Given the description of an element on the screen output the (x, y) to click on. 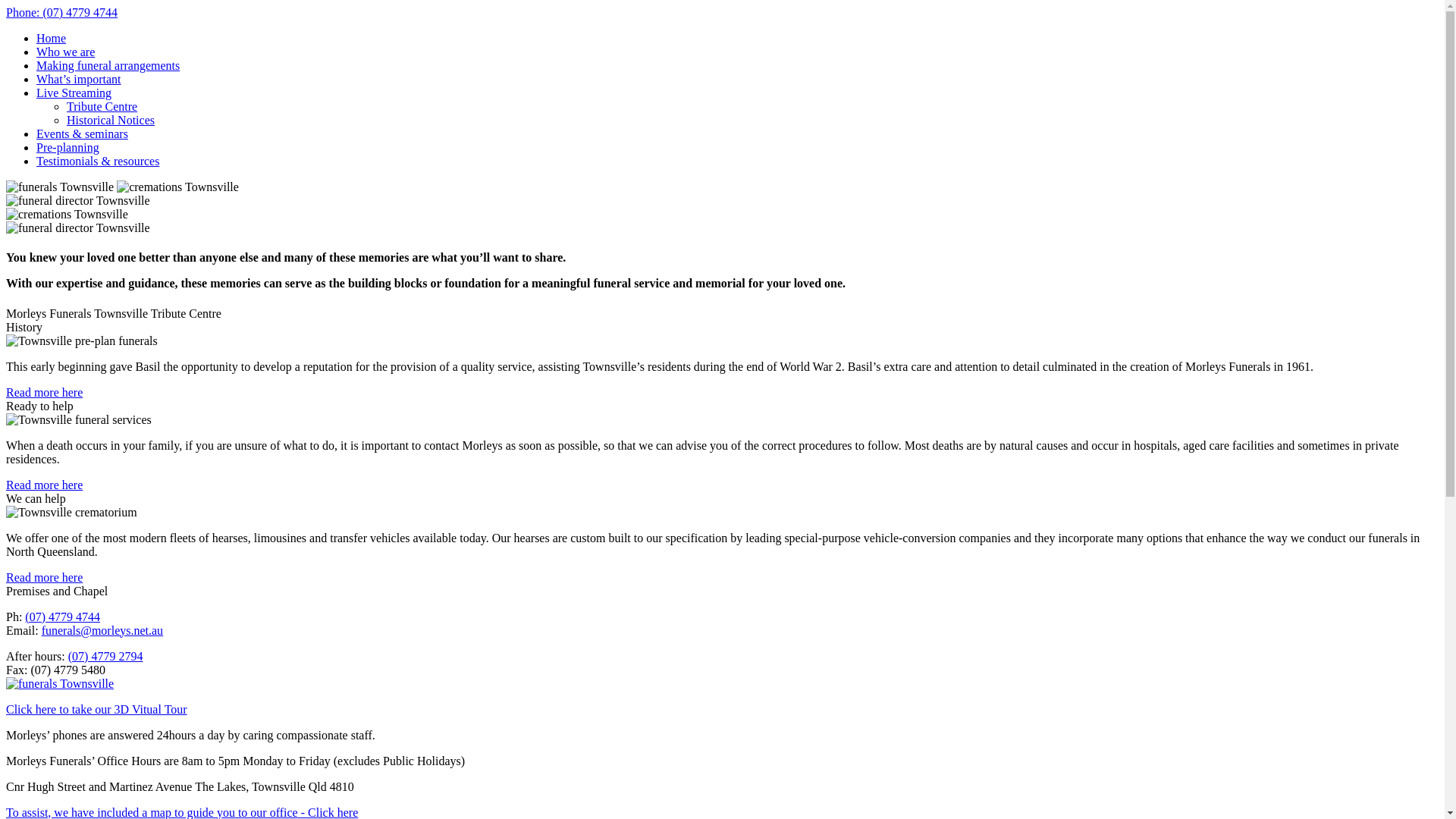
Historical Notices Element type: text (110, 119)
Making funeral arrangements Element type: text (107, 65)
Live Streaming Element type: text (73, 92)
Read more here Element type: text (44, 484)
Phone: (07) 4779 4744 Element type: text (61, 12)
funerals@morleys.net.au Element type: text (102, 630)
Who we are Element type: text (65, 51)
Home Element type: text (50, 37)
(07) 4779 2794 Element type: text (105, 655)
Read more here Element type: text (44, 577)
Pre-planning Element type: text (67, 147)
Read more here Element type: text (44, 391)
Tribute Centre Element type: text (101, 106)
Testimonials & resources Element type: text (97, 160)
(07) 4779 4744 Element type: text (62, 616)
Events & seminars Element type: text (82, 133)
Click here to take our 3D Vitual Tour Element type: text (96, 708)
